Given the description of an element on the screen output the (x, y) to click on. 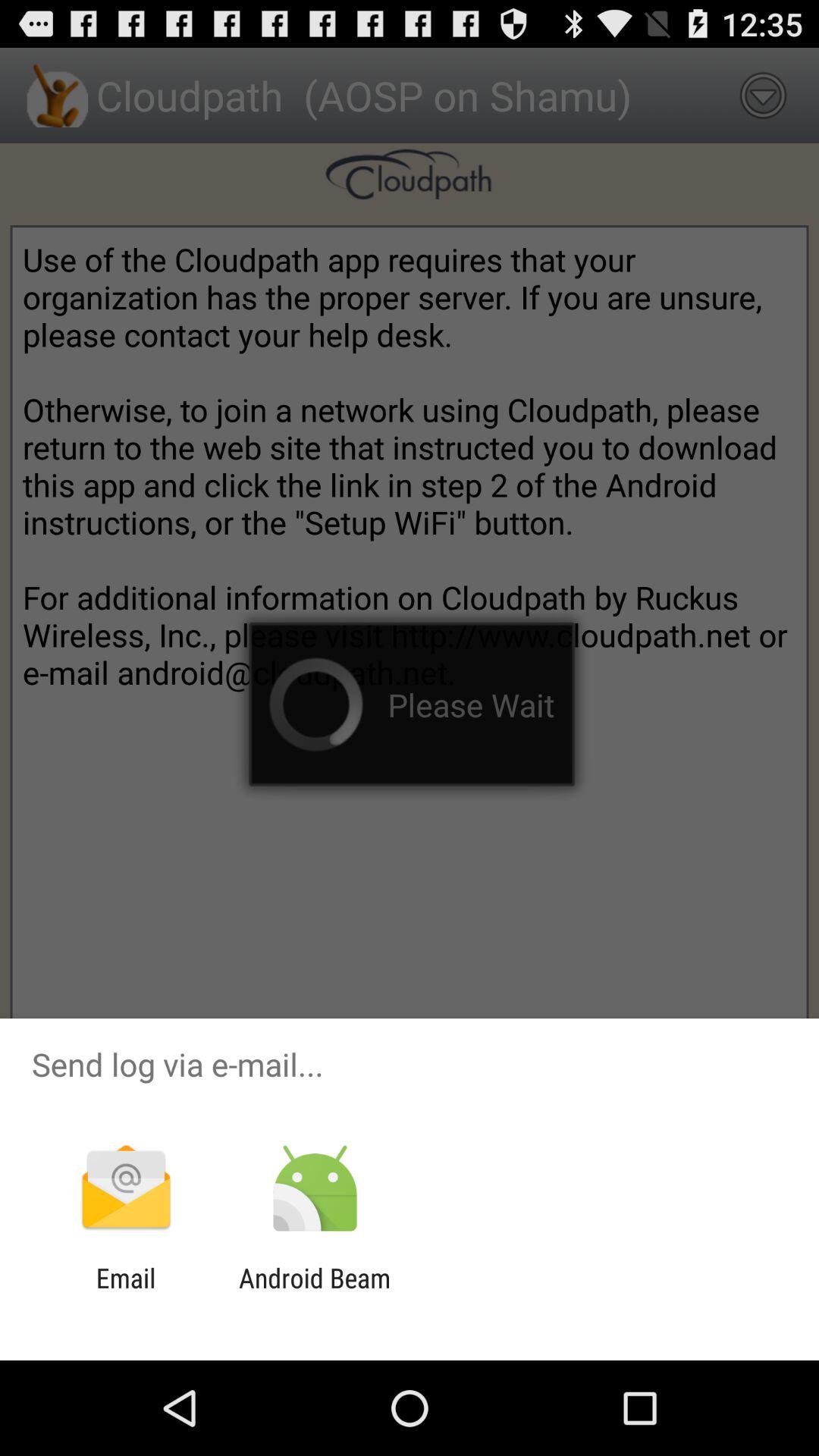
click the icon to the right of the email (314, 1293)
